Given the description of an element on the screen output the (x, y) to click on. 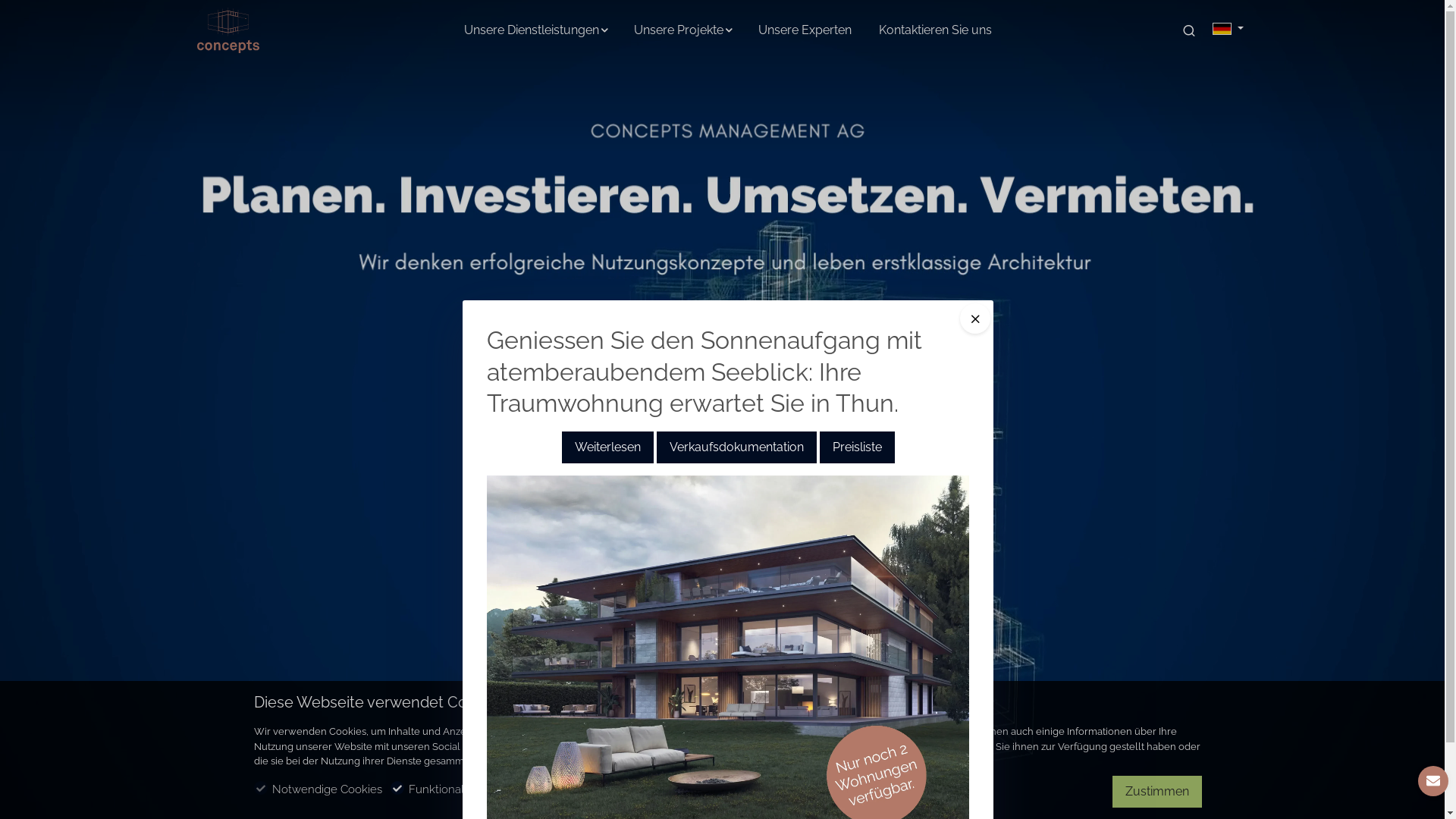
Verkaufsdokumentation Element type: text (736, 447)
Zustimmen Element type: text (1156, 791)
Unsere Experten Element type: text (804, 29)
Kontaktieren Sie uns Element type: text (935, 29)
Unsere Projekte Element type: text (682, 29)
Preisliste Element type: text (856, 447)
Concepts Management Element type: hover (261, 28)
de Element type: hover (1221, 28)
Unsere Dienstleistungen Element type: text (535, 29)
Weiterlesen Element type: text (606, 447)
